Given the description of an element on the screen output the (x, y) to click on. 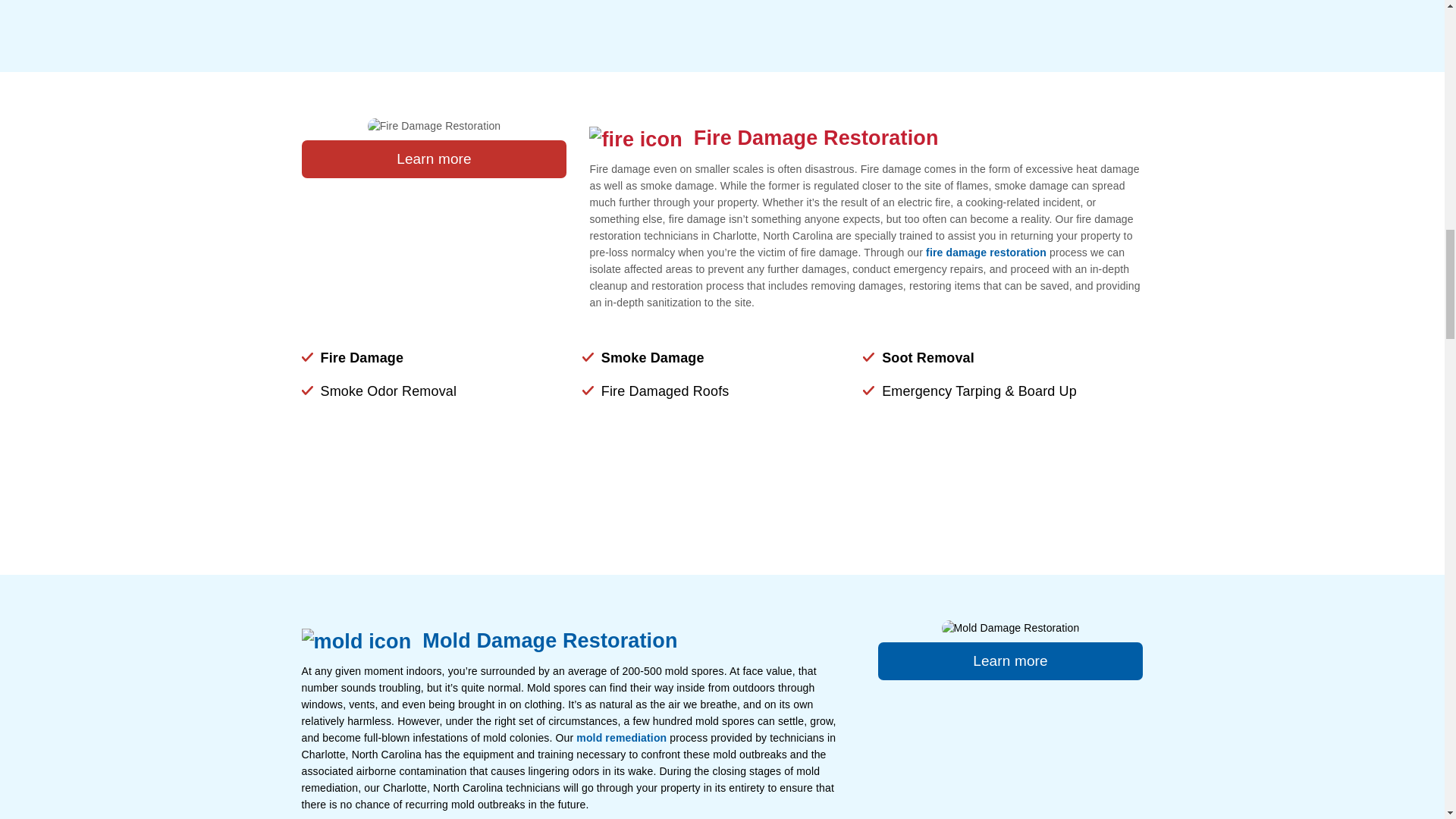
Learn More about Fire Damage Restoration (434, 159)
Soot Removal (928, 357)
Fire Damage (361, 357)
Learn More about Mold Damage Restoration (1009, 661)
Smoke Damage (652, 357)
